Given the description of an element on the screen output the (x, y) to click on. 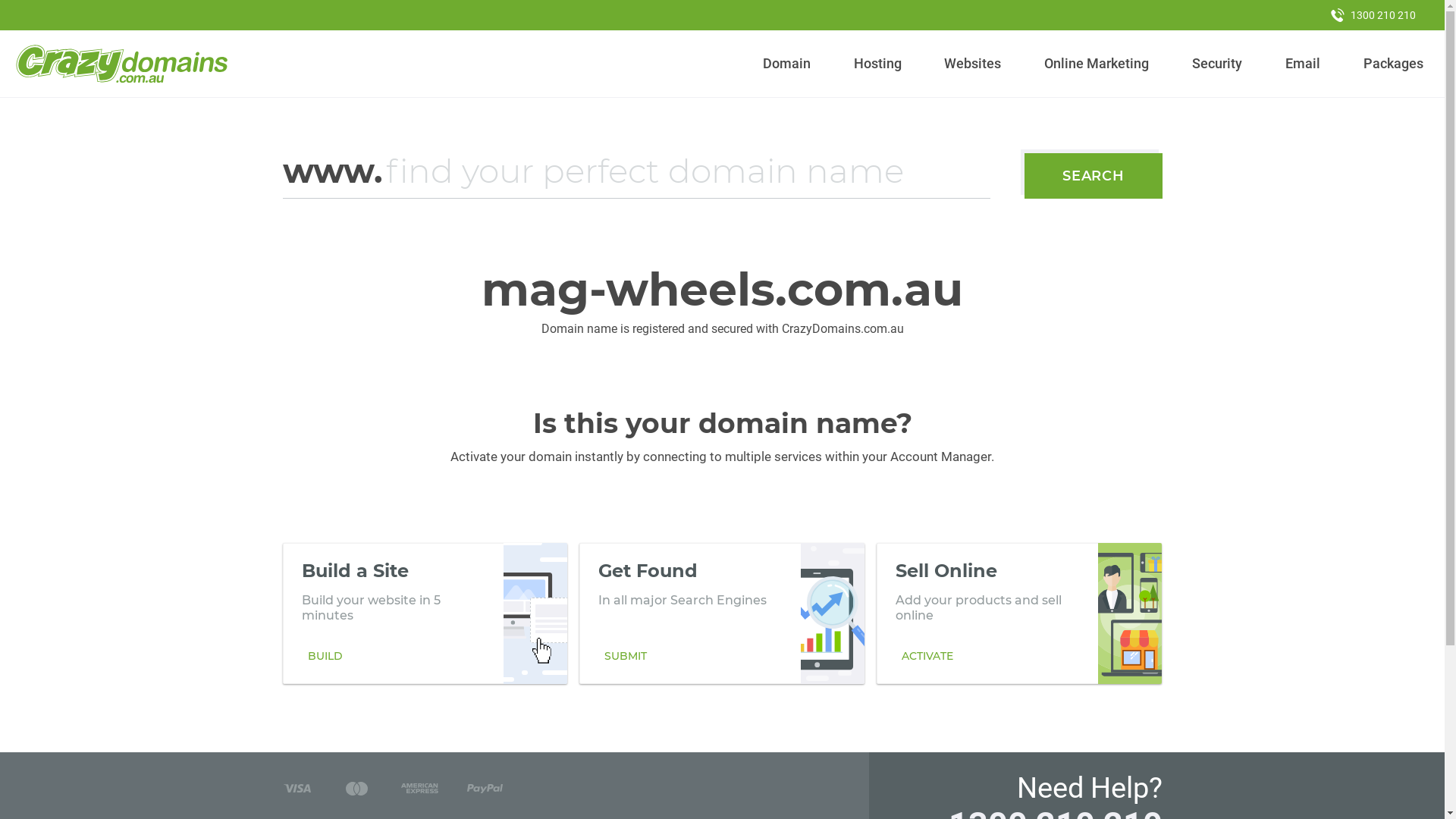
Online Marketing Element type: text (1096, 63)
Packages Element type: text (1392, 63)
Domain Element type: text (786, 63)
Email Element type: text (1302, 63)
1300 210 210 Element type: text (1373, 15)
Build a Site
Build your website in 5 minutes
BUILD Element type: text (424, 613)
Get Found
In all major Search Engines
SUBMIT Element type: text (721, 613)
SEARCH Element type: text (1092, 175)
Hosting Element type: text (877, 63)
Sell Online
Add your products and sell online
ACTIVATE Element type: text (1018, 613)
Security Element type: text (1217, 63)
Websites Element type: text (972, 63)
